Given the description of an element on the screen output the (x, y) to click on. 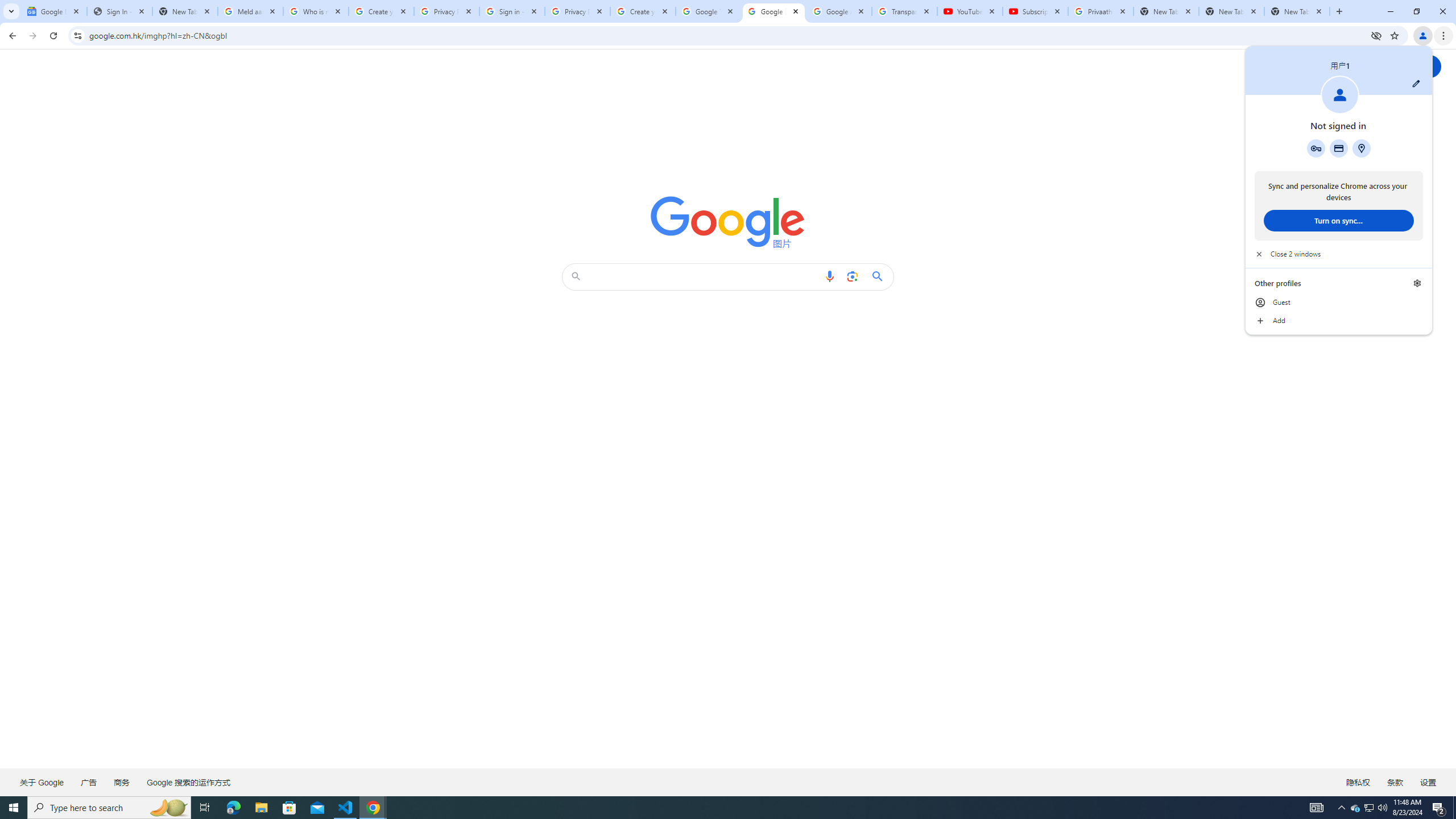
Type here to search (108, 807)
Google Chrome - 2 running windows (373, 807)
YouTube (969, 11)
Create your Google Account (381, 11)
Close 2 windows (1338, 253)
